Given the description of an element on the screen output the (x, y) to click on. 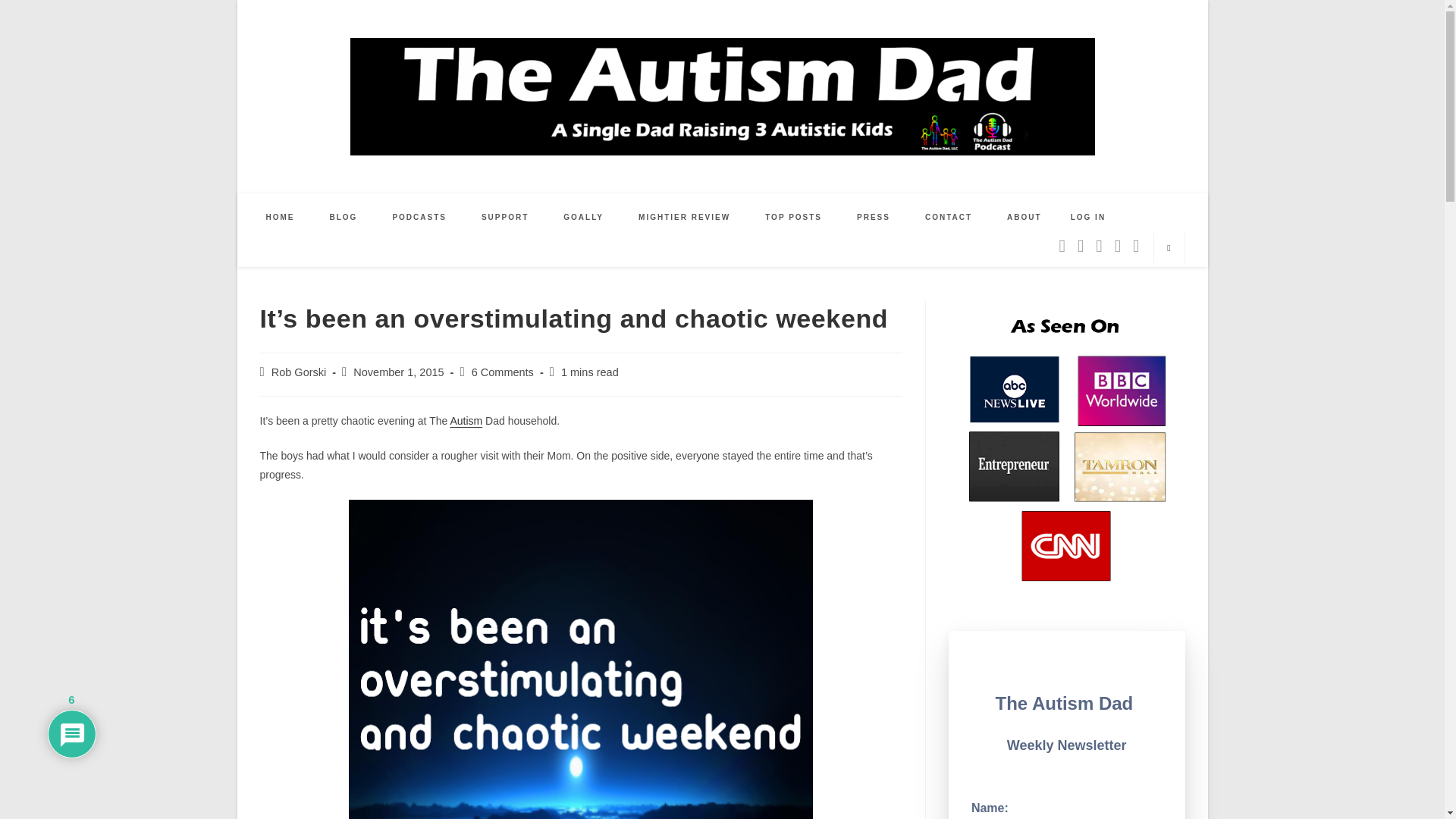
ABOUT (1024, 217)
GOALLY (583, 217)
Rob Gorski (298, 372)
Posts by Rob Gorski (298, 372)
TOP POSTS (794, 217)
SUPPORT (505, 217)
MIGHTIER REVIEW (684, 217)
Autism (465, 420)
PODCASTS (419, 217)
BLOG (344, 217)
6 Comments (502, 372)
CONTACT (948, 217)
HOME (280, 217)
LOG IN (1087, 217)
